Given the description of an element on the screen output the (x, y) to click on. 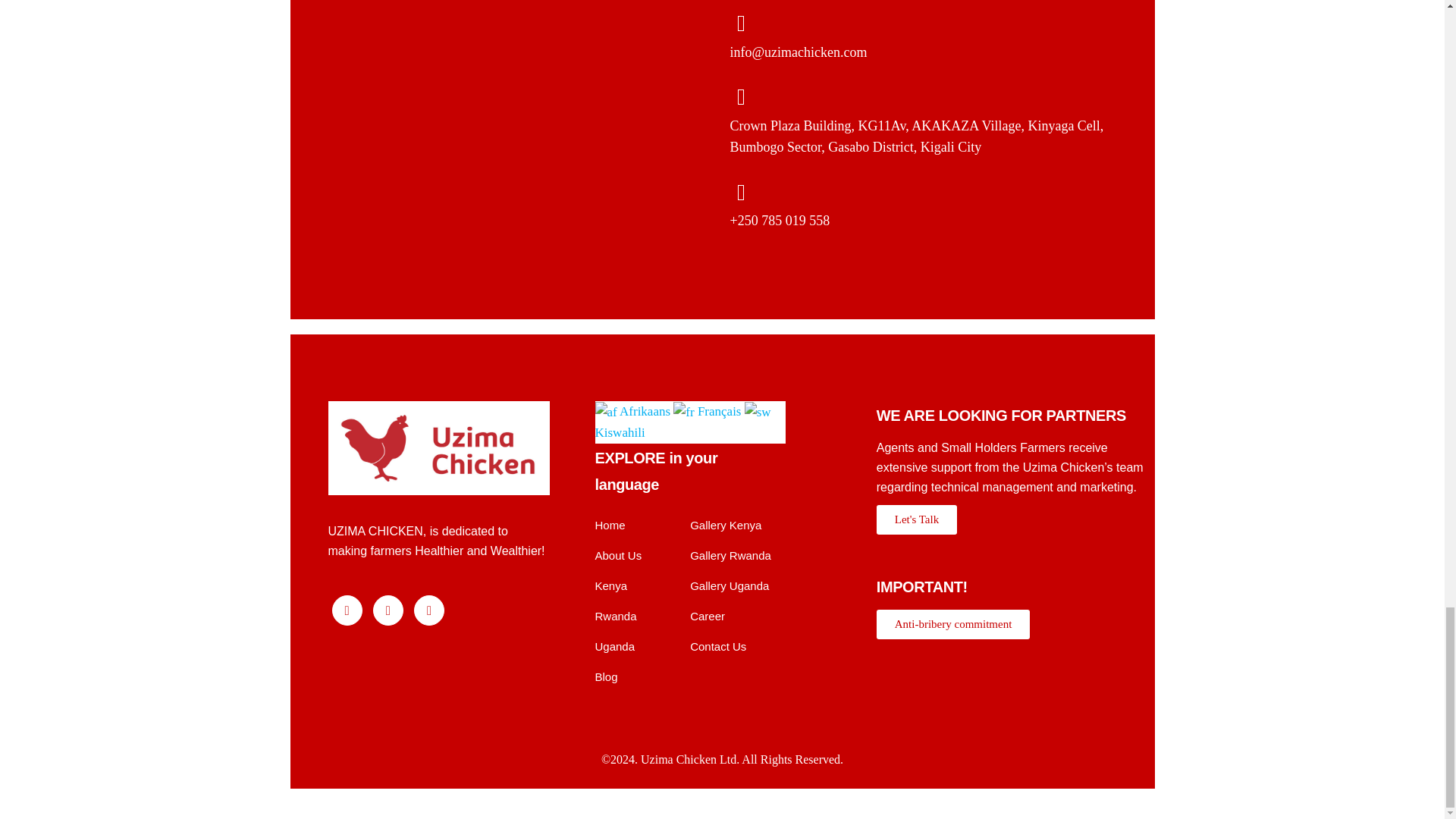
KK 240 Ave,Kigali City (505, 156)
Gallery Uganda (729, 585)
Kenya (610, 585)
Kiswahili (682, 422)
Afrikaans (631, 411)
Rwanda (615, 616)
Uganda (614, 646)
Gallery Rwanda (730, 555)
Gallery Kenya (725, 525)
Home (609, 525)
